Given the description of an element on the screen output the (x, y) to click on. 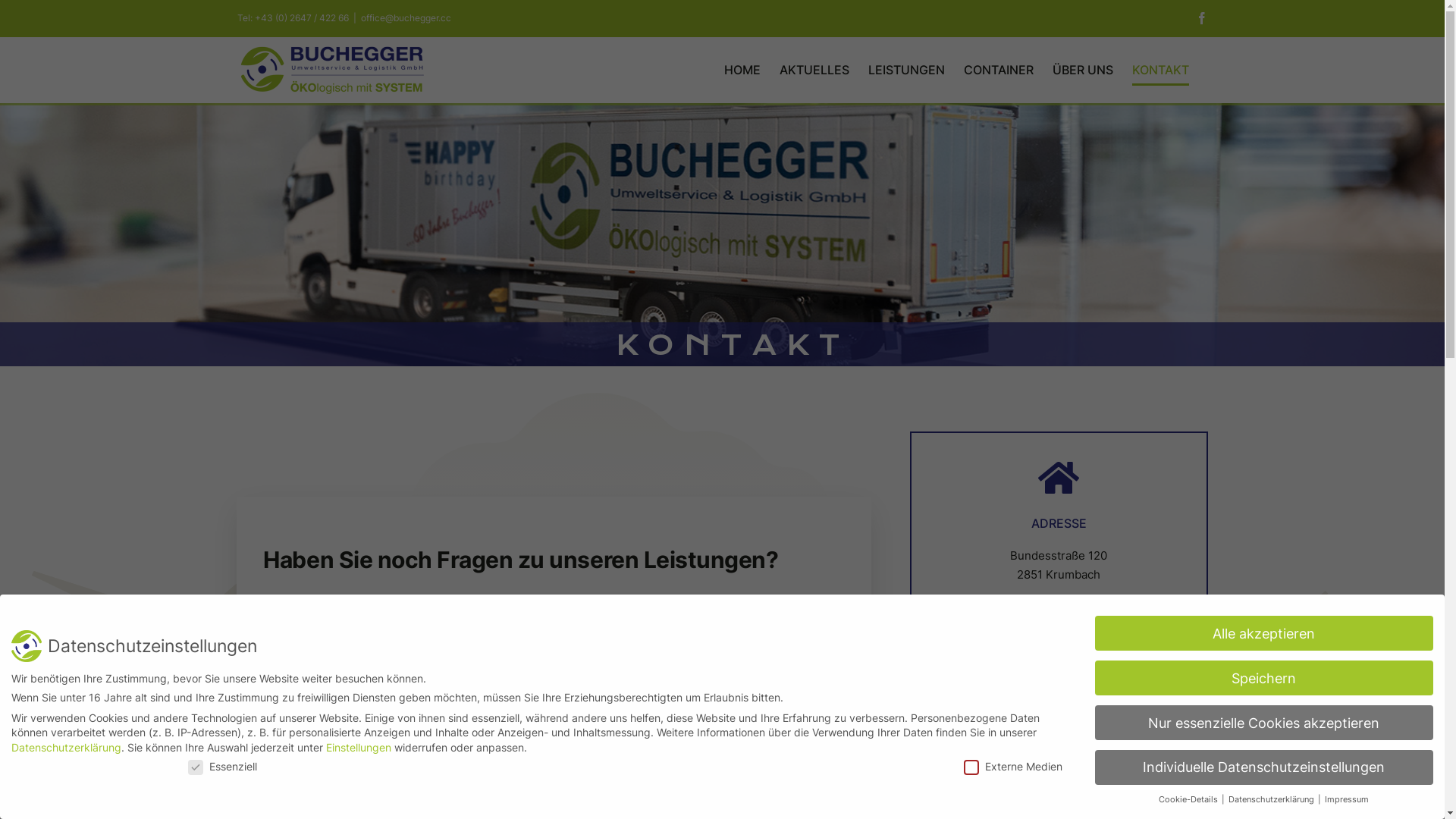
+43 (0) 2647/42266 Element type: text (1071, 741)
Einstellungen Element type: text (358, 746)
Individuelle Datenschutzeinstellungen Element type: text (1264, 766)
Alle akzeptieren Element type: text (1264, 632)
Nur essenzielle Cookies akzeptieren Element type: text (1264, 722)
Cookie-Details Element type: text (1189, 799)
HOME Element type: text (741, 69)
Speichern Element type: text (1264, 677)
+43 (0) 2647 / 422 66 Element type: text (301, 17)
Impressum Element type: text (1346, 799)
+43 (0) 664 182 11 68 Element type: text (1076, 760)
LEISTUNGEN Element type: text (905, 69)
CONTAINER Element type: text (997, 69)
KONTAKT Element type: text (1159, 69)
office@buchegger.cc Element type: text (1078, 779)
Facebook Element type: text (1201, 18)
AKTUELLES Element type: text (814, 69)
office@buchegger.cc Element type: text (405, 17)
